Given the description of an element on the screen output the (x, y) to click on. 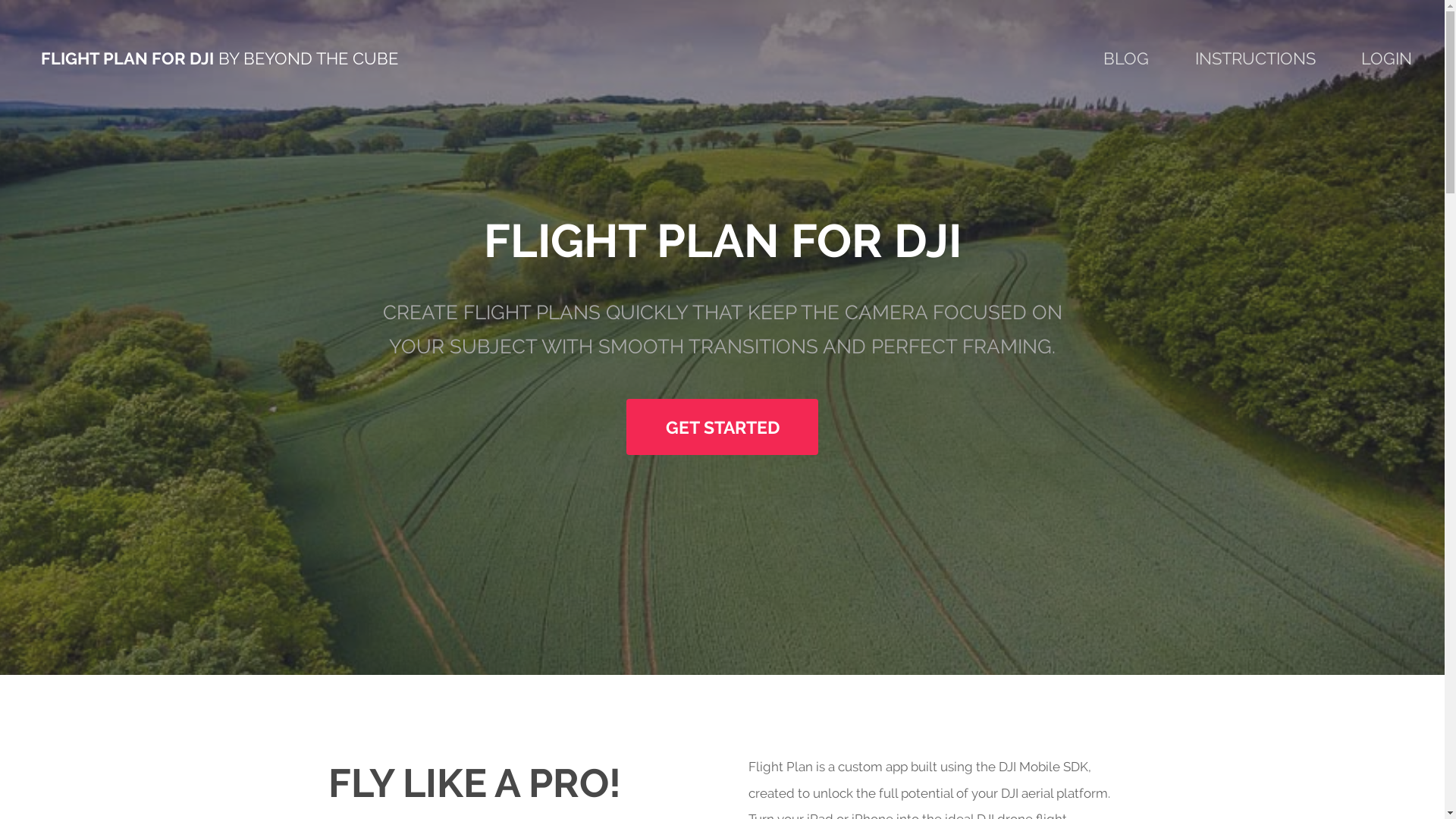
LOGIN Element type: text (1386, 59)
INSTRUCTIONS Element type: text (1255, 59)
BLOG Element type: text (1125, 59)
GET STARTED Element type: text (722, 426)
BY BEYOND THE CUBE Element type: text (308, 58)
FLIGHT PLAN FOR DJI Element type: text (126, 58)
